Given the description of an element on the screen output the (x, y) to click on. 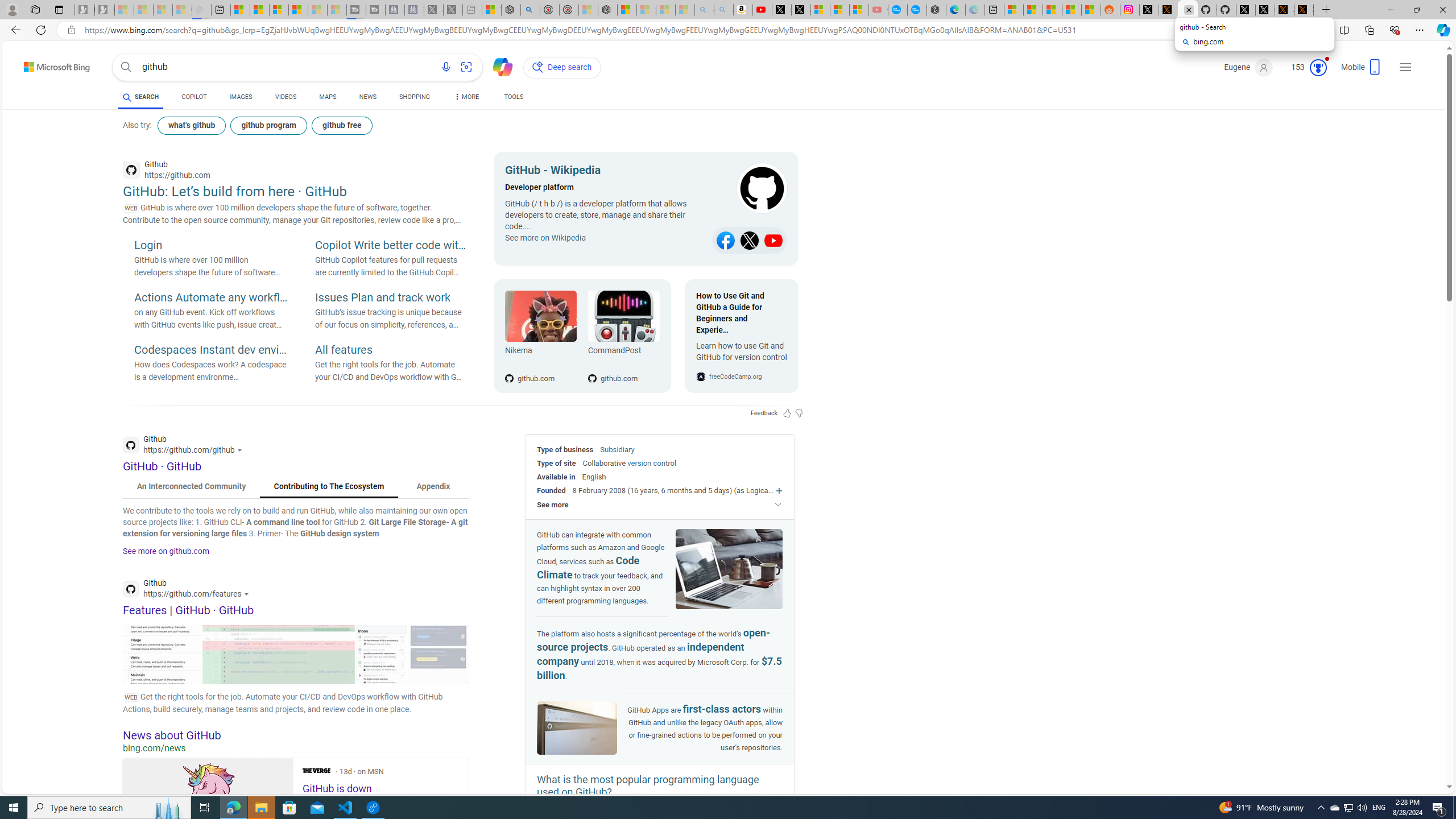
Class: b_wdblk (750, 188)
See more (660, 504)
Search more (1423, 753)
github - Search (1187, 9)
Global web icon (130, 588)
SHOPPING (414, 96)
Microsoft Rewards 153 (1304, 67)
SEARCH (140, 96)
Available in (556, 476)
NEWS (367, 96)
